Given the description of an element on the screen output the (x, y) to click on. 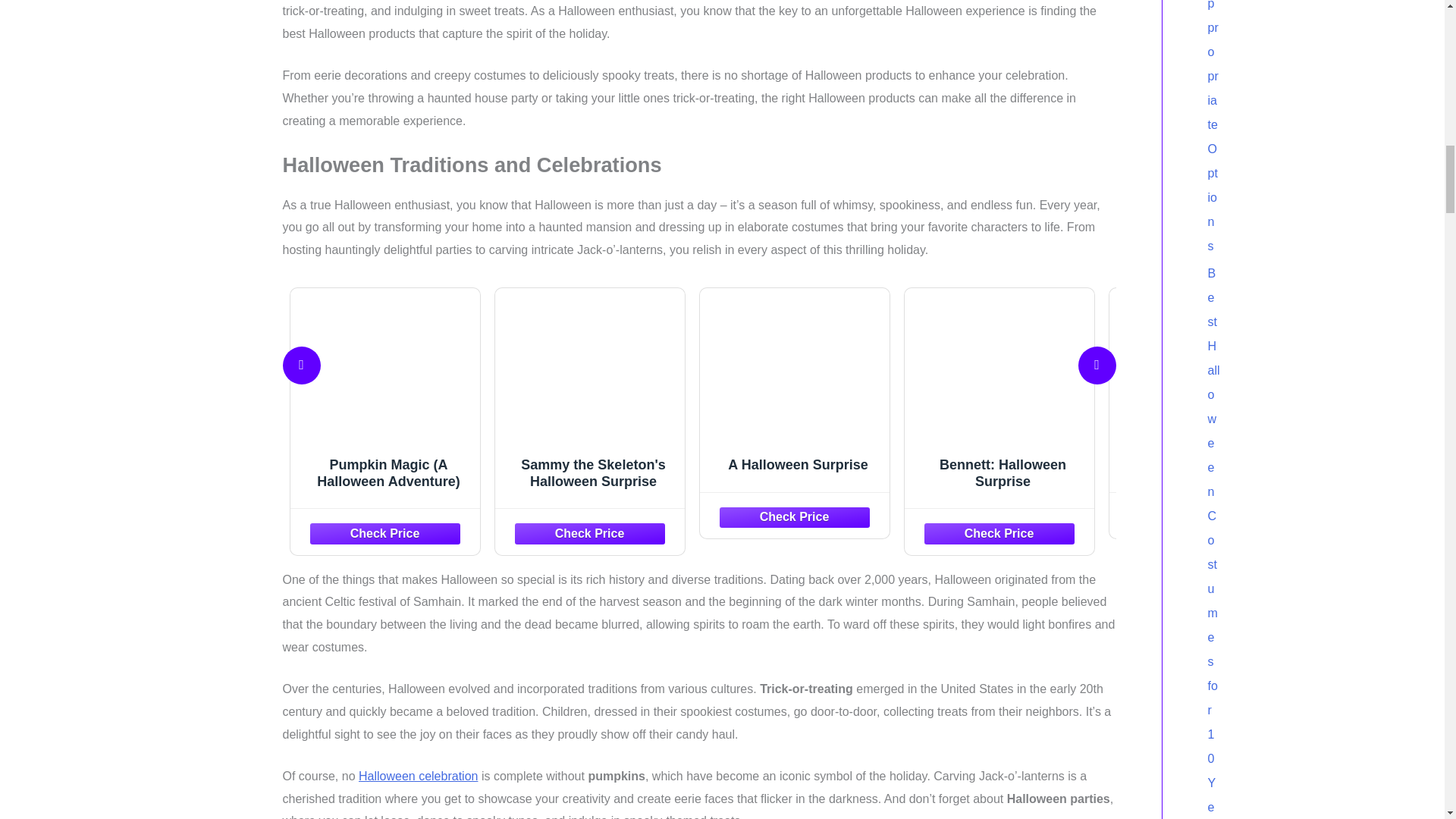
Halloween celebration (417, 775)
